Given the description of an element on the screen output the (x, y) to click on. 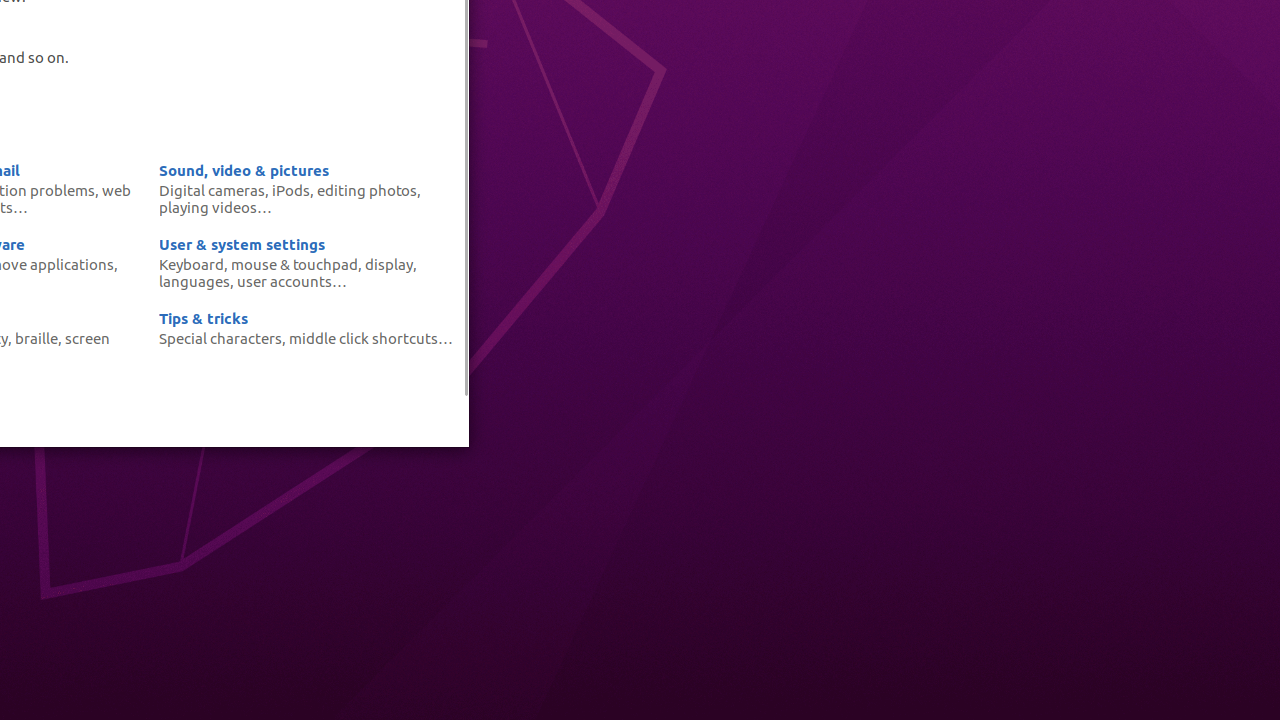
iPods Element type: link (291, 190)
Sound, video & pictures Element type: link (244, 170)
braille Element type: link (36, 338)
languages Element type: link (194, 281)
Special characters Element type: link (220, 338)
